Given the description of an element on the screen output the (x, y) to click on. 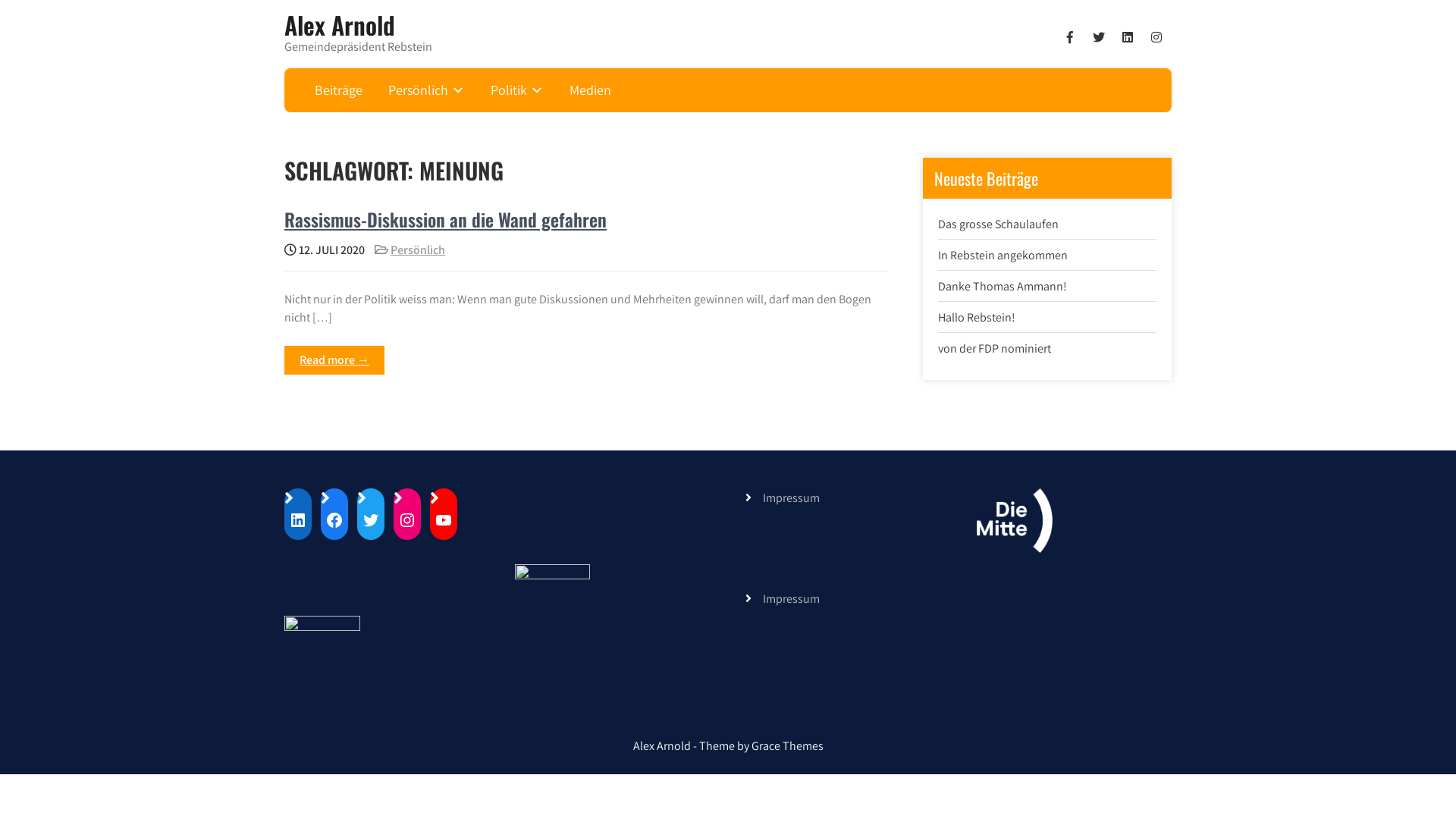
Hallo Rebstein! Element type: text (976, 317)
Das grosse Schaulaufen Element type: text (998, 224)
Medien Element type: text (590, 90)
In Rebstein angekommen Element type: text (1002, 255)
Danke Thomas Ammann! Element type: text (1002, 286)
Impressum Element type: text (790, 497)
LinkedIn Element type: text (297, 519)
Impressum Element type: text (790, 598)
von der FDP nominiert Element type: text (994, 348)
Twitter Element type: text (370, 519)
Facebook Element type: text (334, 519)
Alex Arnold Element type: text (339, 24)
YouTube Element type: text (443, 519)
Instagram Element type: text (406, 519)
Rassismus-Diskussion an die Wand gefahren Element type: text (445, 218)
Politik Element type: text (517, 90)
